Given the description of an element on the screen output the (x, y) to click on. 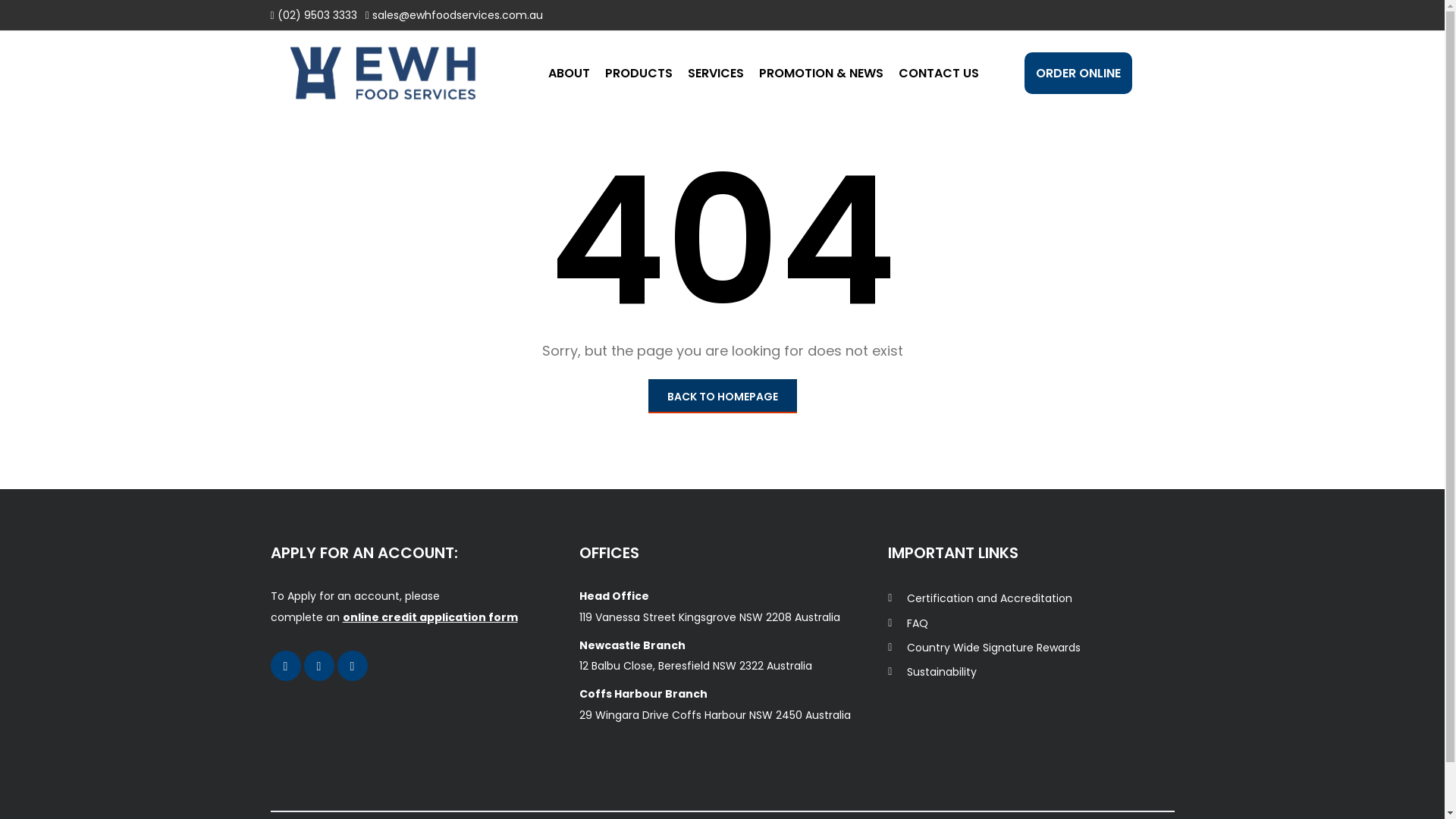
Country Wide Signature Rewards Element type: text (984, 647)
BACK TO HOMEPAGE Element type: text (721, 396)
ORDER ONLINE Element type: text (1077, 72)
ABOUT Element type: text (568, 72)
PRODUCTS Element type: text (638, 72)
FAQ Element type: text (908, 623)
sales@ewhfoodservices.com.au Element type: text (457, 14)
CONTACT US Element type: text (937, 72)
Certification and Accreditation Element type: text (980, 598)
Sustainability Element type: text (932, 671)
online credit application form Element type: text (429, 616)
SERVICES Element type: text (715, 72)
PROMOTION & NEWS Element type: text (820, 72)
